Given the description of an element on the screen output the (x, y) to click on. 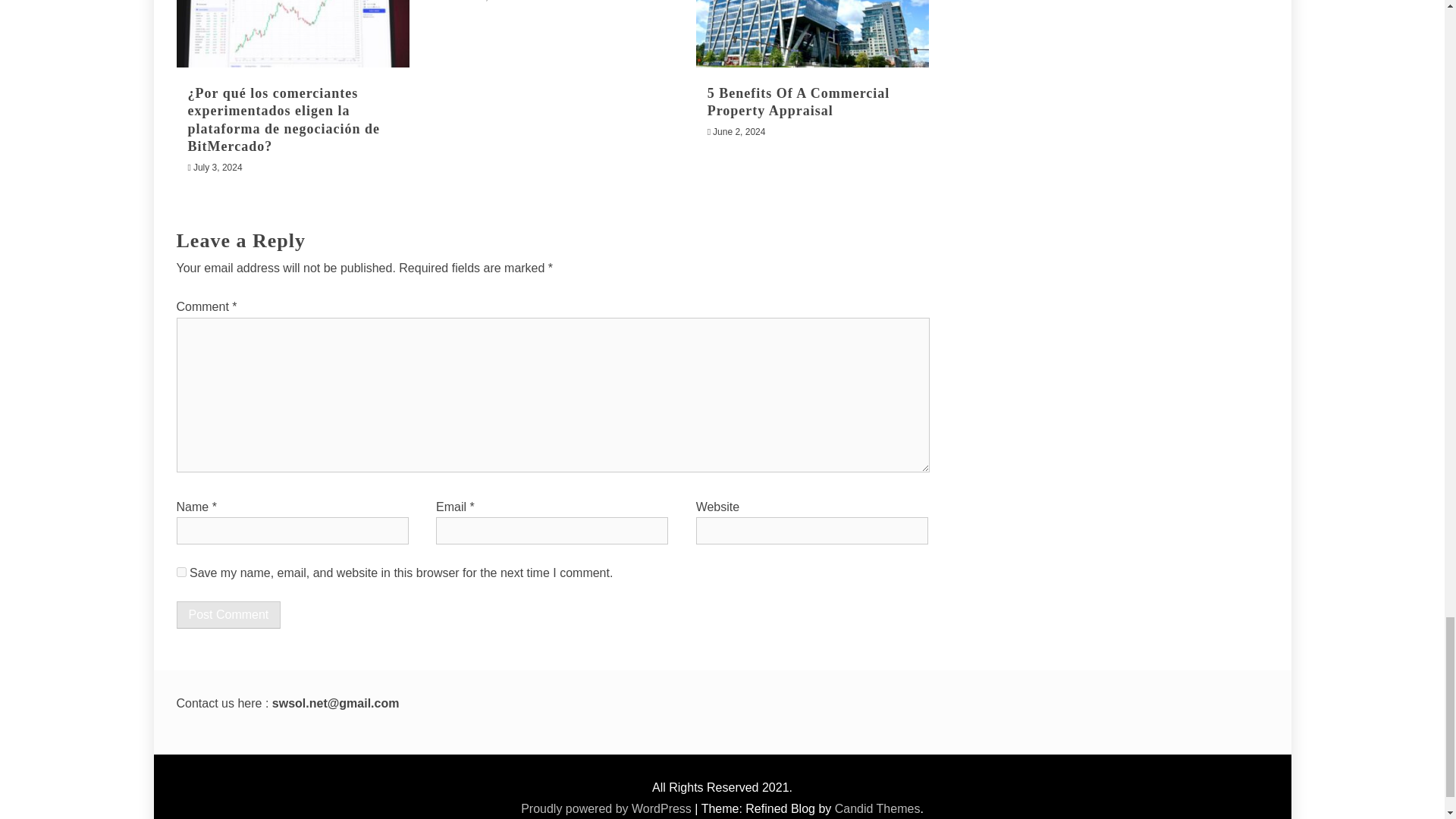
June 2, 2024 (739, 131)
yes (181, 572)
June 21, 2024 (481, 1)
Post Comment (228, 614)
July 3, 2024 (218, 167)
Post Comment (228, 614)
5 Benefits Of A Commercial Property Appraisal (798, 101)
